Given the description of an element on the screen output the (x, y) to click on. 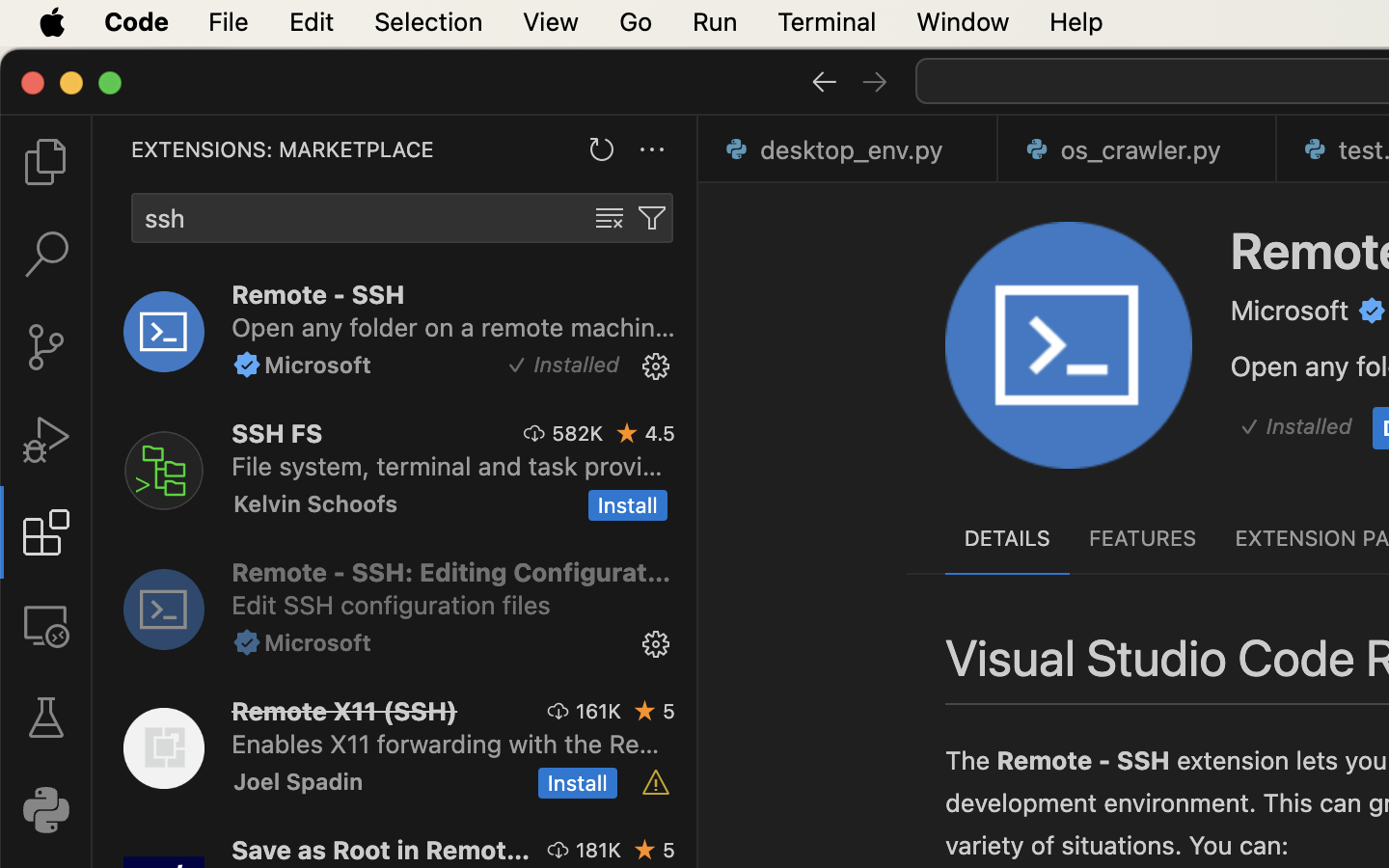
 Element type: AXStaticText (627, 432)
Remote - SSH: Editing Configuration Files Element type: AXStaticText (451, 571)
EXTENSIONS: MARKETPLACE Element type: AXStaticText (282, 149)
0  Element type: AXRadioButton (46, 254)
 Element type: AXButton (874, 80)
